Given the description of an element on the screen output the (x, y) to click on. 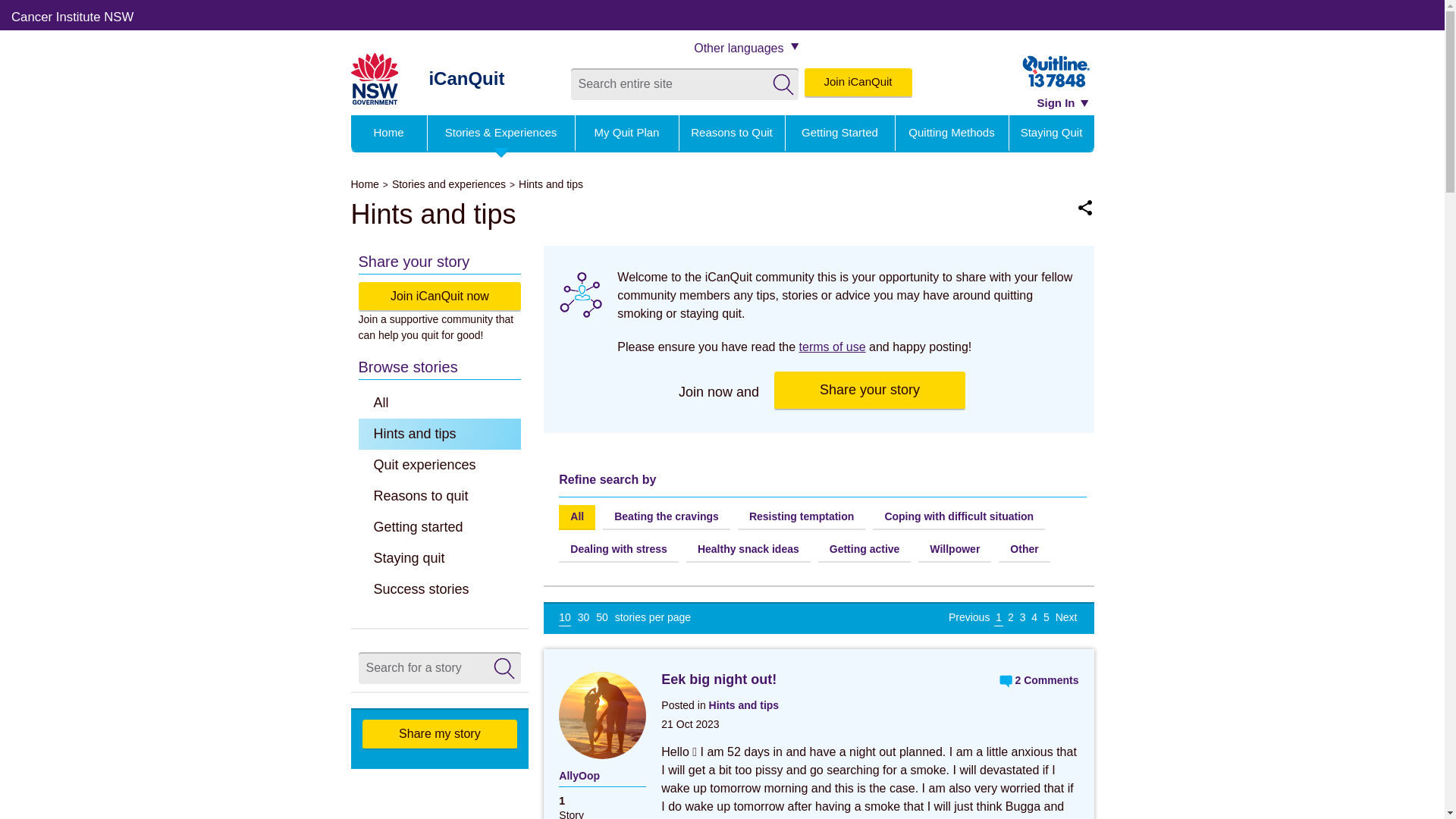
NSW Government Element type: text (374, 78)
1 Element type: text (998, 617)
AllyOop Element type: text (602, 775)
Success stories Element type: text (438, 589)
Hints and tips Element type: text (438, 433)
Join iCanQuit now Element type: text (438, 297)
Resisting temptation Element type: text (801, 517)
Cancer Institute NSW Element type: text (72, 17)
Stories and experiences Element type: text (453, 183)
Willpower Element type: text (954, 549)
Search Stories Element type: text (504, 668)
Getting started Element type: text (438, 526)
Quitline 13 78 48 Element type: text (1057, 71)
5 Element type: text (1046, 617)
My Quit Plan Element type: text (625, 132)
Other Element type: text (1023, 549)
Previous Element type: text (969, 617)
Join iCanQuit Element type: text (857, 82)
Quit experiences Element type: text (438, 464)
2 Element type: text (1010, 617)
Other languages Element type: text (745, 48)
Home Element type: text (368, 183)
Reasons to Quit Element type: text (731, 132)
Beating the cravings Element type: text (666, 517)
10 Element type: text (564, 617)
Sign In Element type: text (1062, 102)
Staying quit Element type: text (438, 558)
Reasons to quit Element type: text (438, 495)
Dealing with stress Element type: text (618, 549)
Healthy snack ideas Element type: text (748, 549)
3 Element type: text (1022, 617)
Search Element type: text (782, 84)
30 Element type: text (583, 617)
Next Element type: text (1066, 617)
Getting Started Element type: text (839, 132)
Coping with difficult situation Element type: text (958, 517)
Hints and tips Element type: text (550, 183)
Search Element type: hover (782, 84)
Quitting Methods Element type: text (950, 132)
Stories & Experiences Element type: text (500, 132)
terms of use Element type: text (832, 345)
Hints and tips Element type: text (744, 705)
Staying Quit Element type: text (1050, 132)
Eek big night out! Element type: text (718, 679)
Share my story Element type: text (439, 734)
4 Element type: text (1033, 617)
All Element type: text (438, 402)
Home Element type: text (388, 132)
View stories by user AllyOop Element type: hover (602, 720)
50 Element type: text (602, 617)
Getting active Element type: text (864, 549)
2 Comments Element type: text (1031, 680)
All Element type: text (576, 517)
Search for a story Element type: hover (504, 668)
Share your story Element type: text (869, 391)
